Given the description of an element on the screen output the (x, y) to click on. 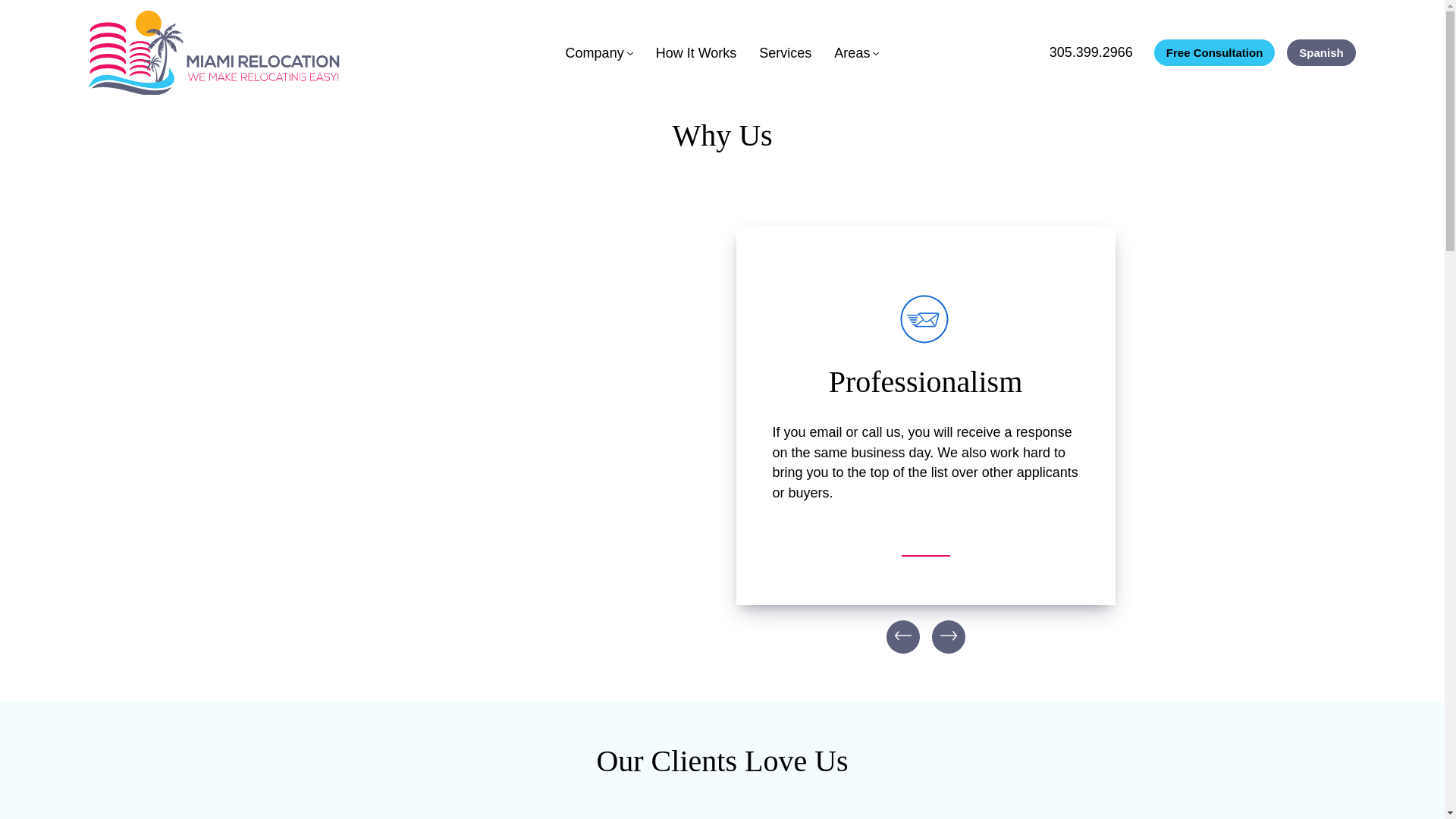
How It Works (696, 51)
Free Consultation (1214, 52)
305.399.2966 (1090, 52)
arrow-2 (903, 635)
arrow-2 (948, 635)
Services (784, 51)
